Given the description of an element on the screen output the (x, y) to click on. 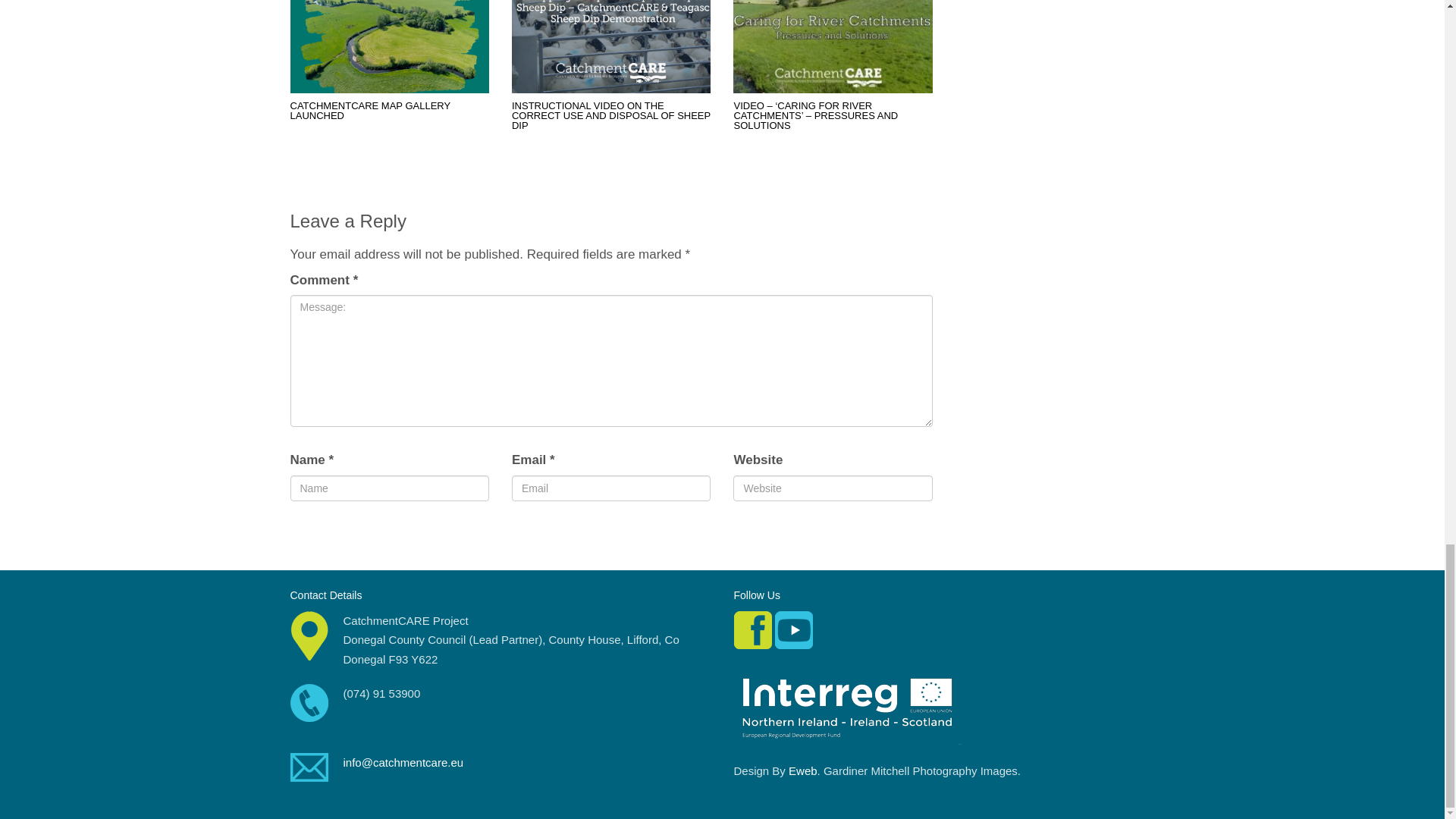
CATCHMENTCARE MAP GALLERY LAUNCHED (369, 110)
Eweb (802, 770)
Post Comment (339, 539)
Post Comment (339, 539)
